Given the description of an element on the screen output the (x, y) to click on. 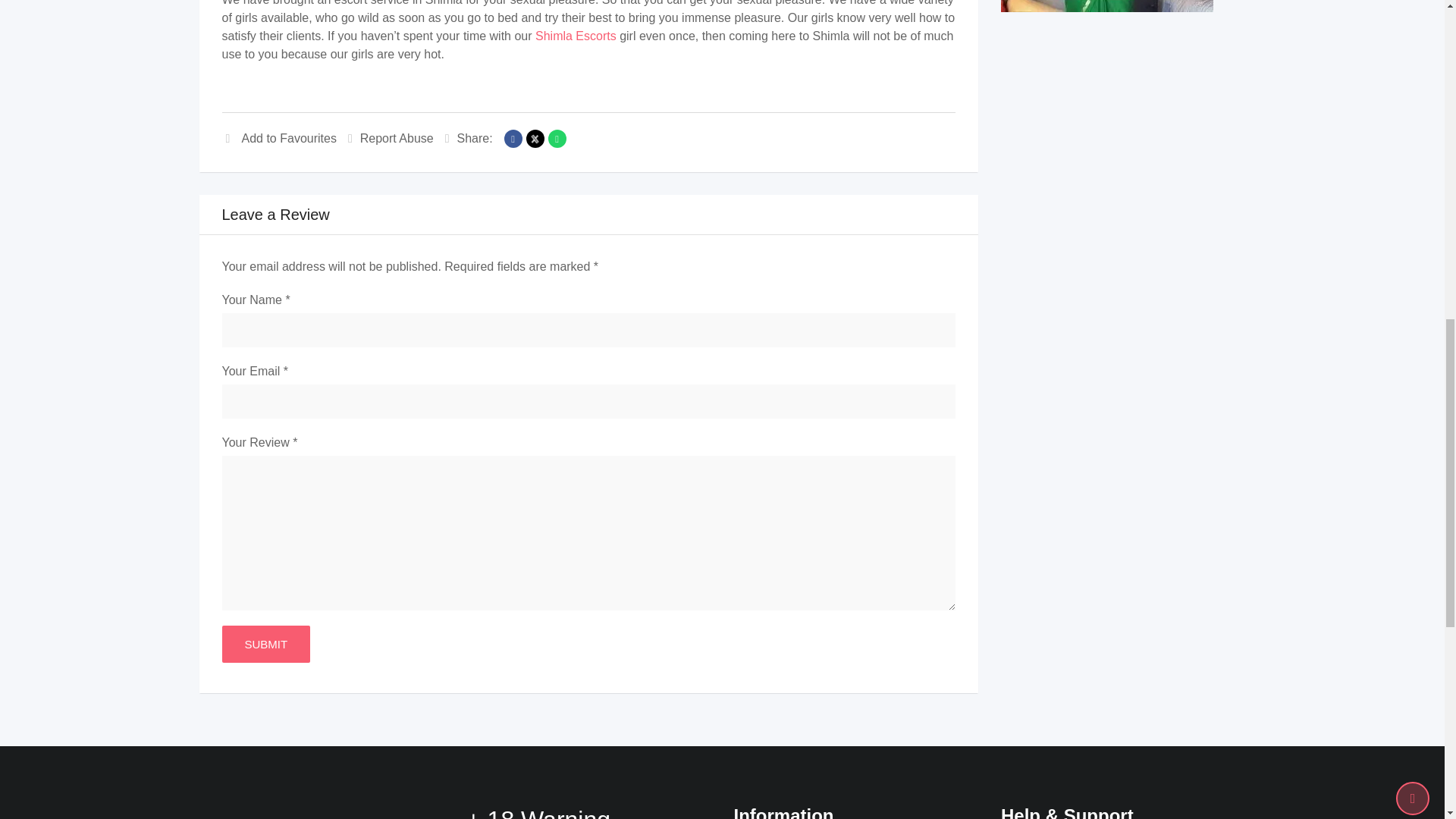
Add to Favourites (278, 137)
Submit (265, 643)
Submit (265, 643)
Shimla Escorts (575, 35)
Report Abuse (390, 137)
